Given the description of an element on the screen output the (x, y) to click on. 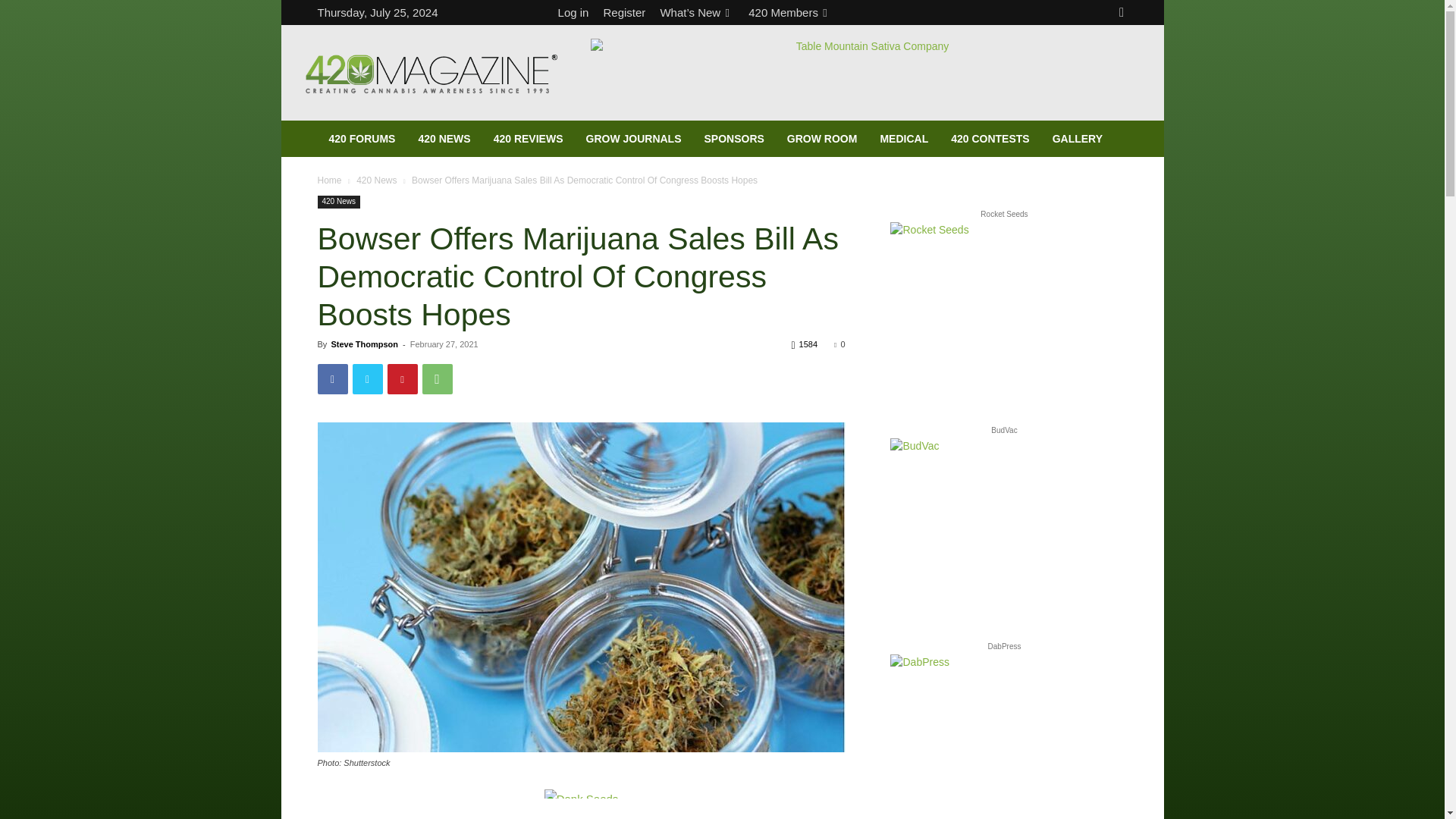
WhatsApp (436, 378)
Pinterest (401, 378)
View all posts in 420 News (376, 180)
Facebook (332, 378)
Dank Seeds (581, 793)
Table Mountain Sativa Company (865, 72)
Twitter (366, 378)
